Given the description of an element on the screen output the (x, y) to click on. 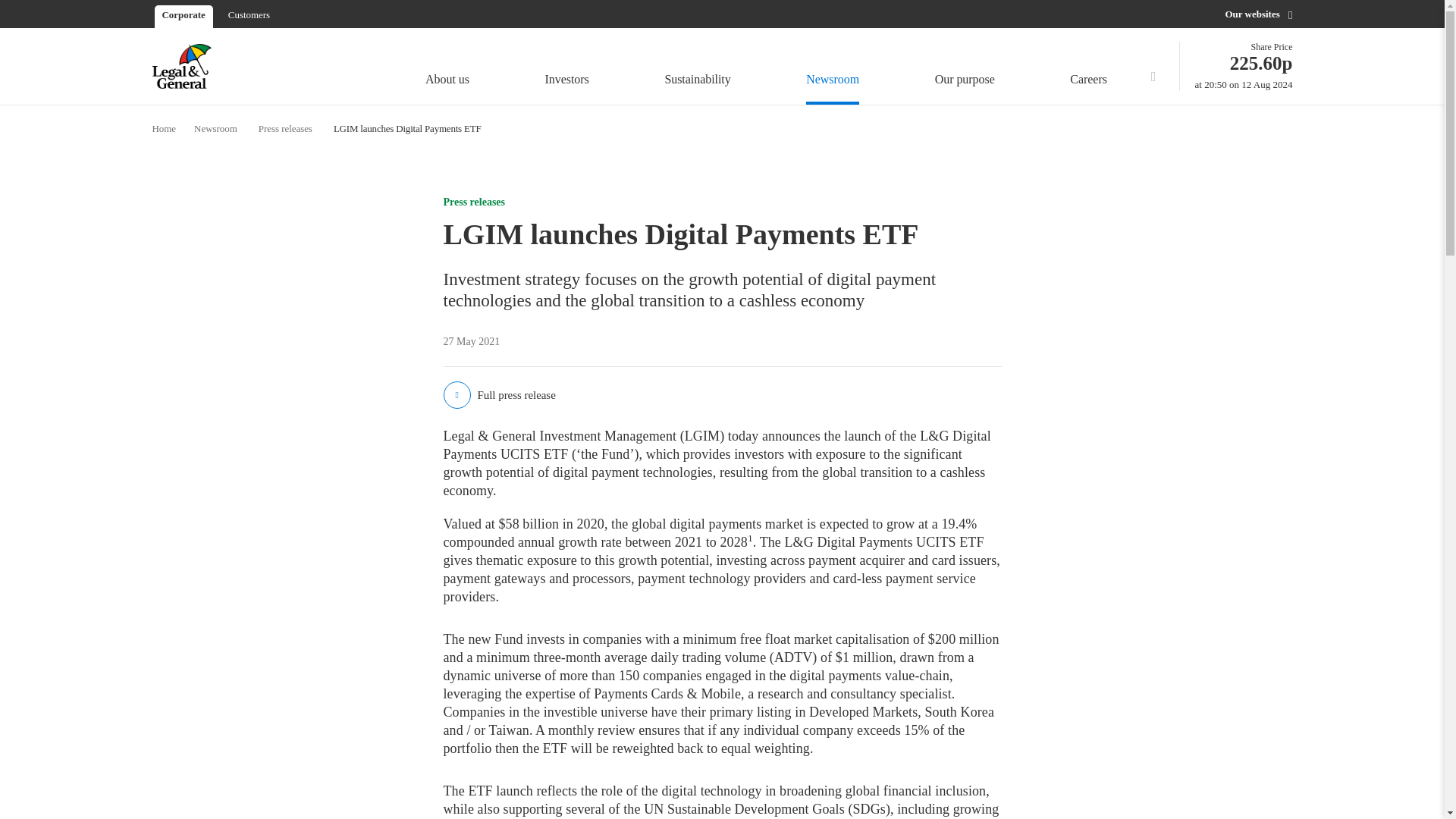
Customers (248, 14)
Newsroom (832, 68)
Investors (566, 68)
Careers (1091, 68)
About us (1243, 65)
Our purpose (446, 68)
Sustainability (964, 68)
Our websites (696, 68)
